Given the description of an element on the screen output the (x, y) to click on. 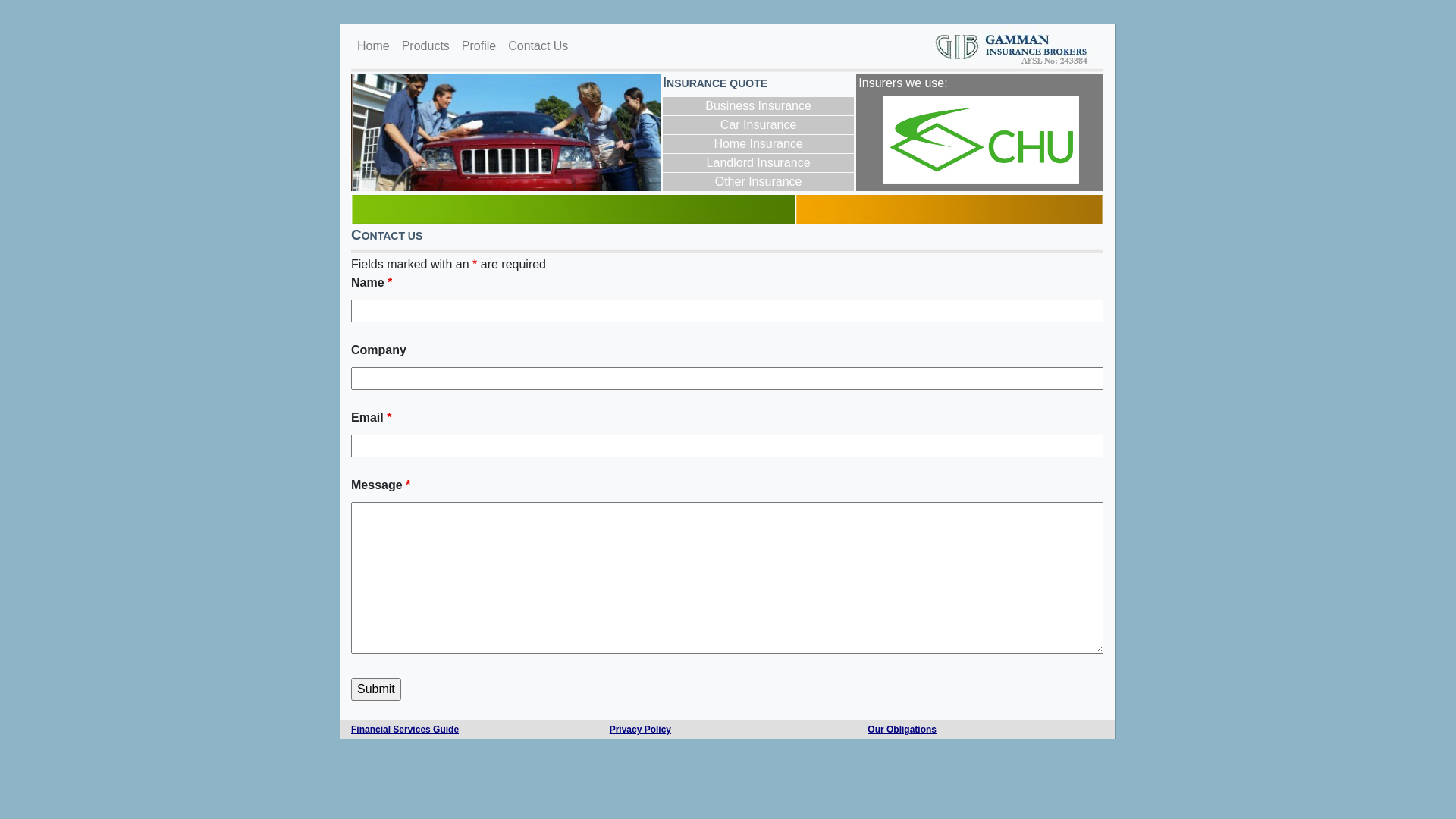
Products Element type: text (425, 46)
Car Insurance Element type: text (758, 125)
Financial Services Guide Element type: text (404, 729)
Business Insurance Element type: text (758, 106)
Other Insurance Element type: text (758, 181)
Profile Element type: text (478, 46)
Contact Us Element type: text (538, 46)
Privacy Policy Element type: text (640, 729)
Home Insurance Element type: text (758, 143)
Landlord Insurance Element type: text (758, 162)
Our Obligations Element type: text (901, 729)
Home Element type: text (373, 46)
